Given the description of an element on the screen output the (x, y) to click on. 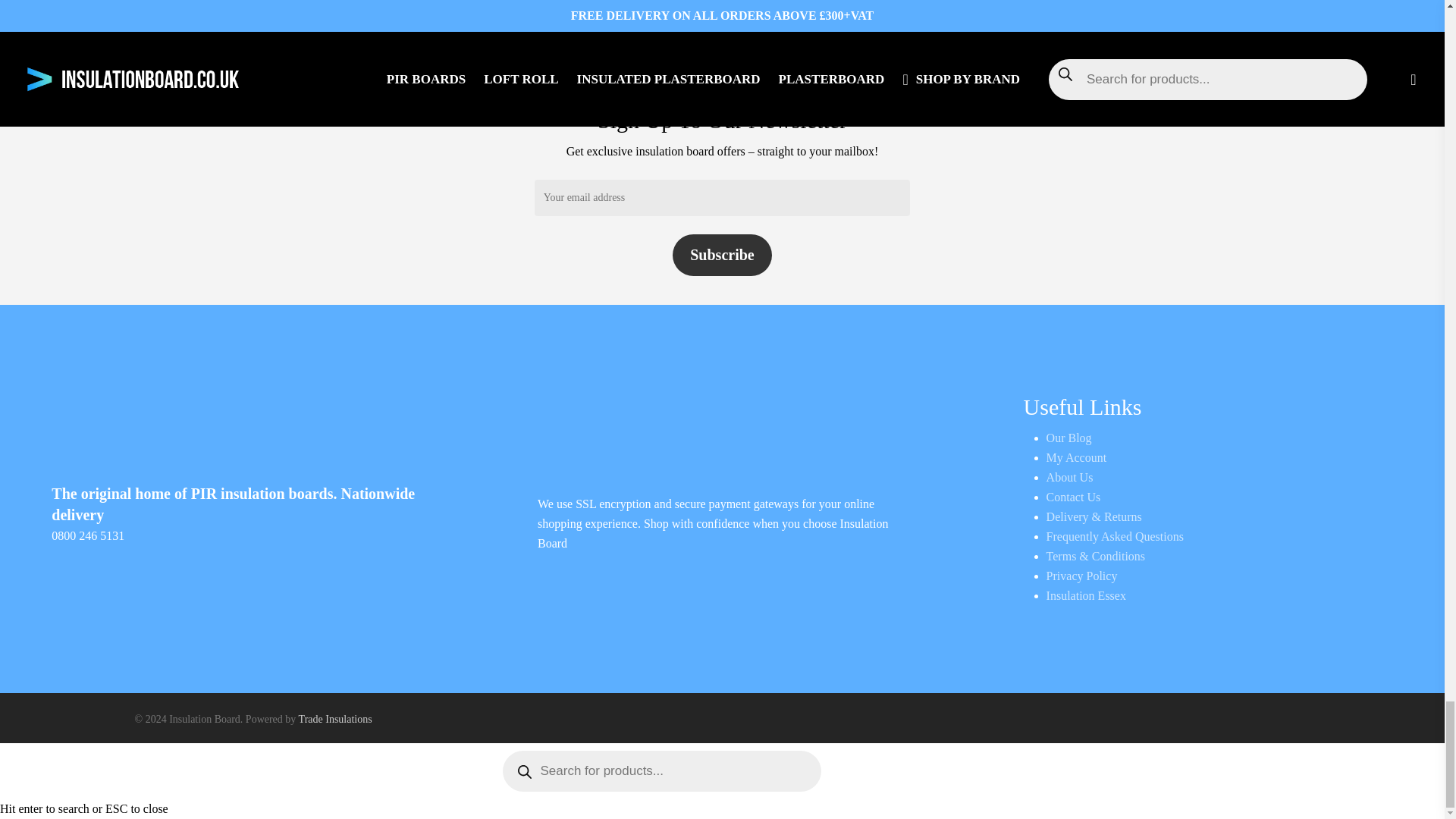
Subscribe (721, 255)
